Given the description of an element on the screen output the (x, y) to click on. 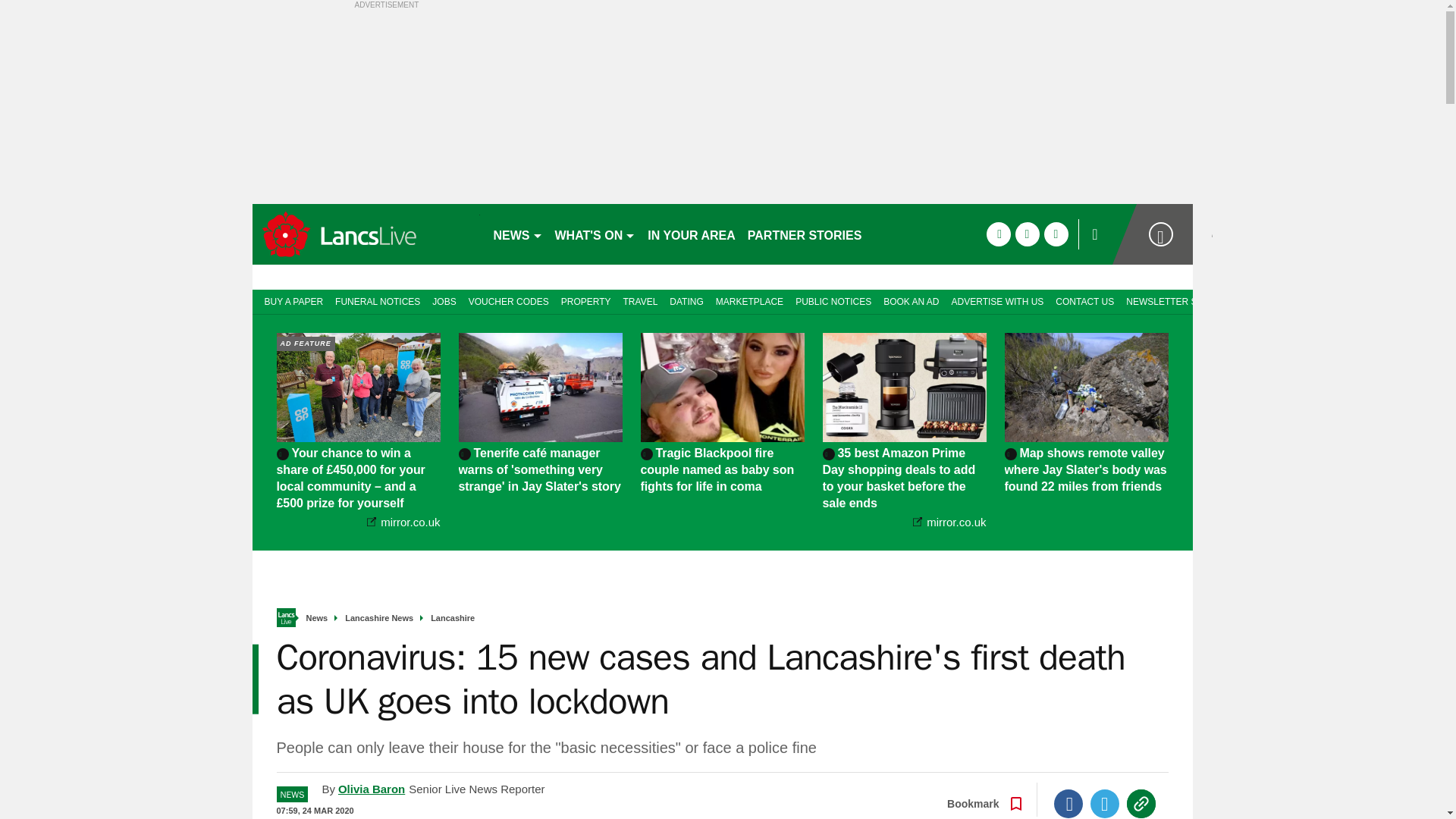
twitter (1026, 233)
FUNERAL NOTICES (377, 300)
VOUCHER CODES (508, 300)
PROPERTY (585, 300)
3rd party ad content (118, 409)
TRAVEL (640, 300)
DATING (686, 300)
WHAT'S ON (595, 233)
BUY A PAPER (290, 300)
Facebook (1068, 803)
IN YOUR AREA (691, 233)
MARKETPLACE (749, 300)
PUBLIC NOTICES (833, 300)
